Given the description of an element on the screen output the (x, y) to click on. 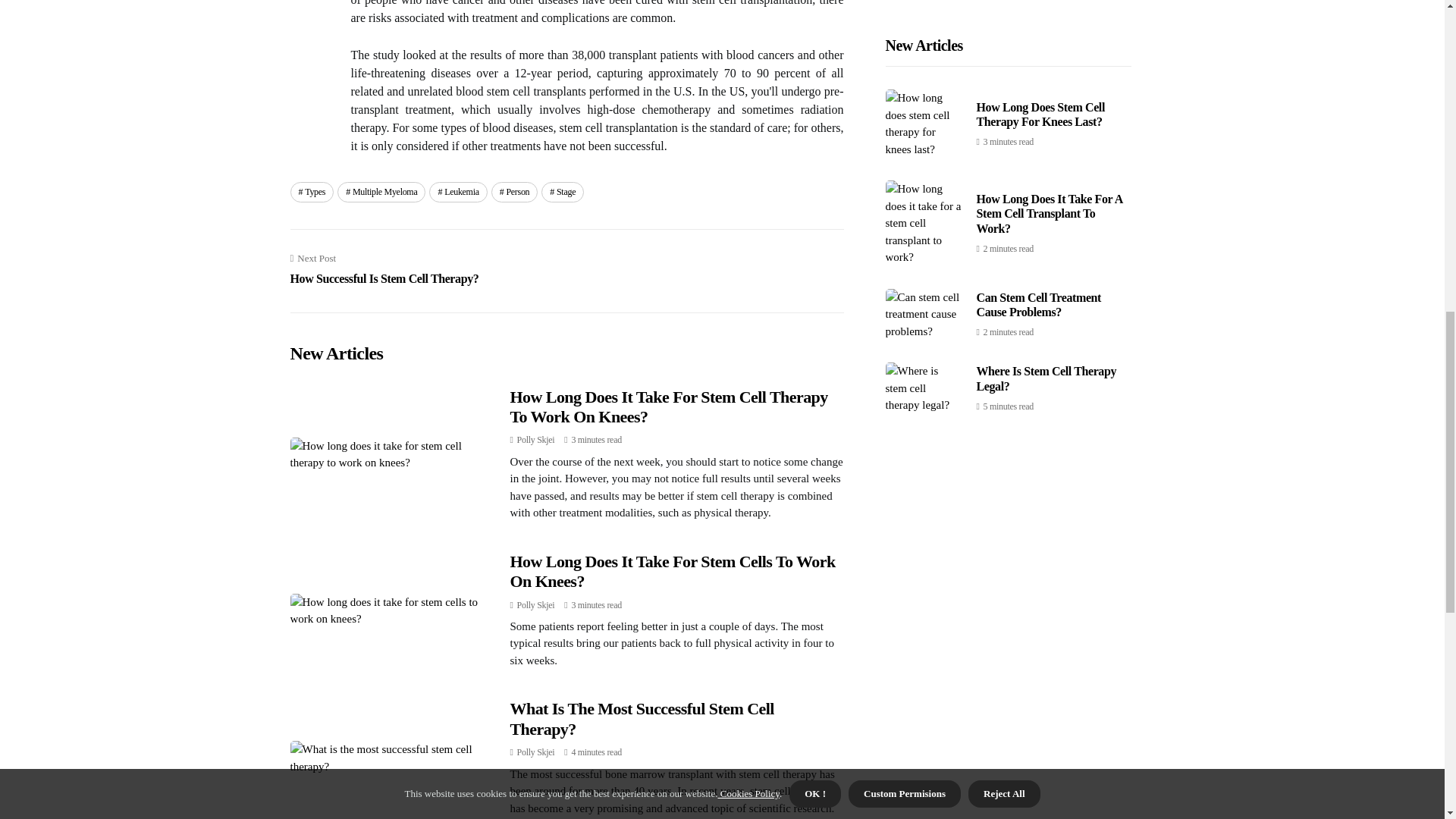
Types (311, 191)
Polly Skjei (384, 269)
What Is The Most Successful Stem Cell Therapy? (535, 439)
Posts by Polly Skjei (641, 718)
Posts by Polly Skjei (535, 751)
Person (535, 439)
Posts by Polly Skjei (515, 191)
Polly Skjei (535, 604)
Stage (535, 751)
How Long Does It Take For Stem Cells To Work On Knees? (562, 191)
Leukemia (671, 571)
Polly Skjei (457, 191)
Multiple Myeloma (535, 604)
